Given the description of an element on the screen output the (x, y) to click on. 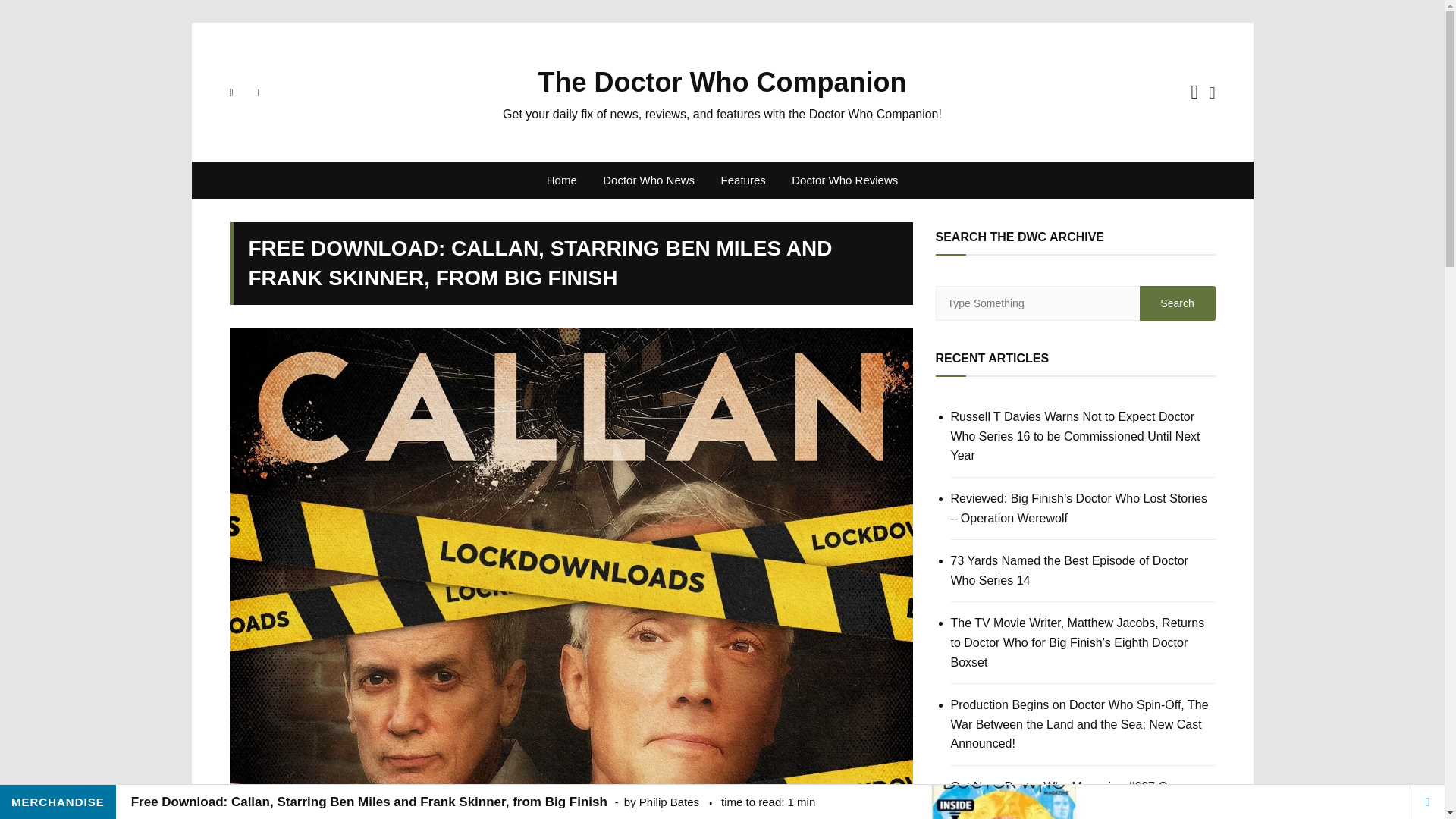
The Doctor Who Companion (722, 81)
Doctor Who News (648, 180)
Doctor Who Reviews (844, 180)
Search (1176, 303)
Features (743, 180)
Home (561, 180)
